Given the description of an element on the screen output the (x, y) to click on. 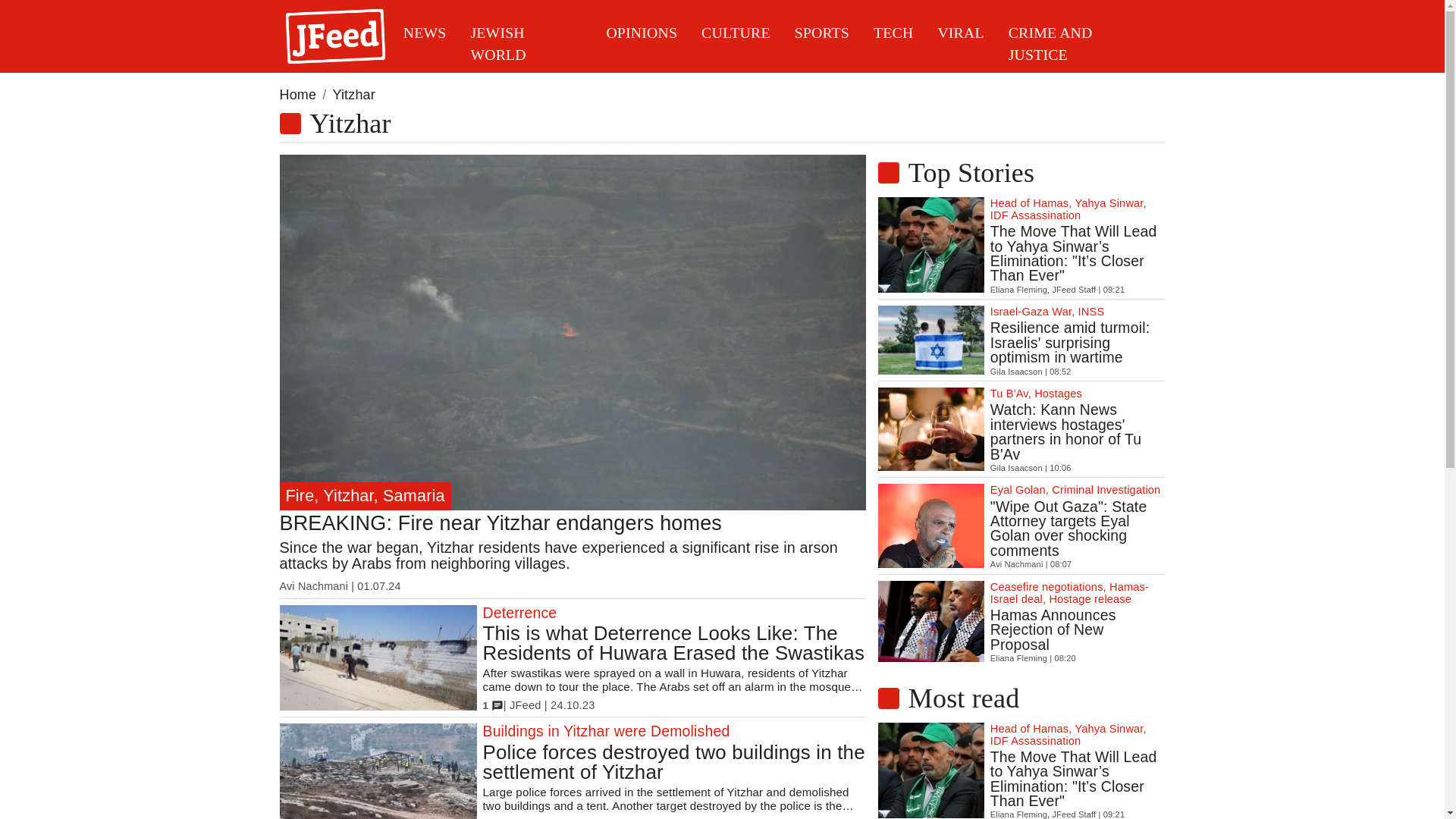
Home (297, 95)
TECH (892, 43)
CULTURE (735, 43)
Hamas Announces Rejection of New Proposal (1078, 629)
OPINIONS (641, 43)
VIRAL (959, 43)
SPORTS (822, 43)
